Given the description of an element on the screen output the (x, y) to click on. 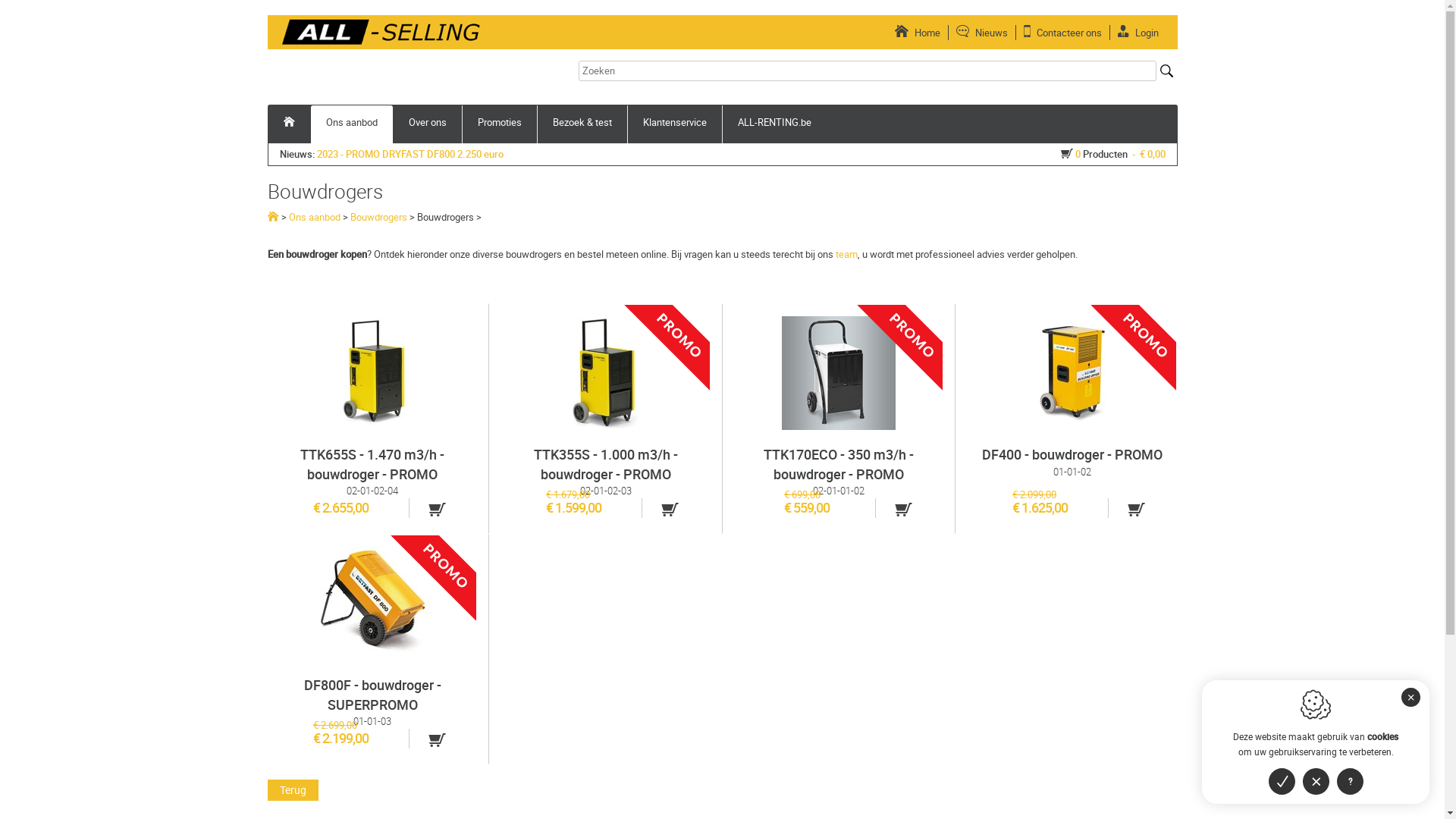
Contacteer ons Element type: text (1062, 32)
Over ons Element type: text (426, 124)
Login Element type: text (1137, 32)
ALL-RENTING.be Element type: text (773, 124)
2023 - PROMO DRYFAST DF800 2.250 euro Element type: text (409, 153)
Terug Element type: text (291, 789)
TTK170ECO - 350 m3/h - bouwdroger - PROMO
02-01-01-02 Element type: text (838, 407)
Ons aanbod Element type: text (351, 124)
TTK655S - 1.470 m3/h - bouwdroger - PROMO
02-01-02-04 Element type: text (372, 407)
Home Element type: text (917, 32)
team Element type: text (846, 253)
Klantenservice Element type: text (674, 124)
TTK355S - 1.000 m3/h - bouwdroger - PROMO
02-01-02-03 Element type: text (605, 407)
Bezoek & test Element type: text (581, 124)
DF400 - bouwdroger - PROMO
01-01-02 Element type: text (1071, 407)
Bouwdrogers Element type: text (378, 216)
Ons aanbod Element type: text (313, 216)
Promoties Element type: text (499, 124)
Nieuws Element type: text (981, 32)
DF800F - bouwdroger - SUPERPROMO
01-01-03 Element type: text (372, 637)
